Given the description of an element on the screen output the (x, y) to click on. 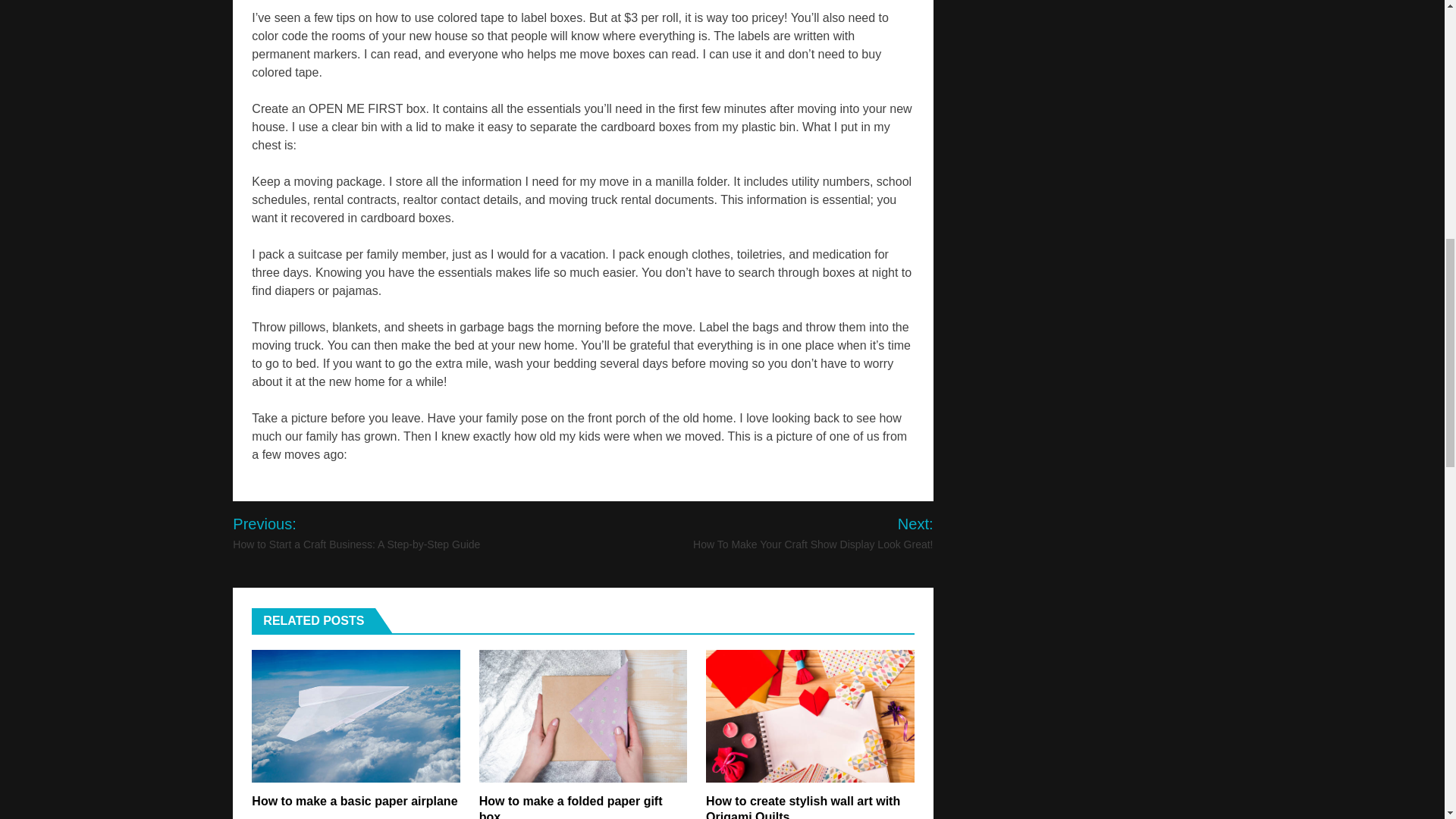
Next: How To Make Your Craft Show Display Look Great! (793, 532)
How to make a folded paper gift box (570, 806)
How to make a basic paper airplane (354, 800)
How to create stylish wall art with Origami Quilts (802, 806)
